Given the description of an element on the screen output the (x, y) to click on. 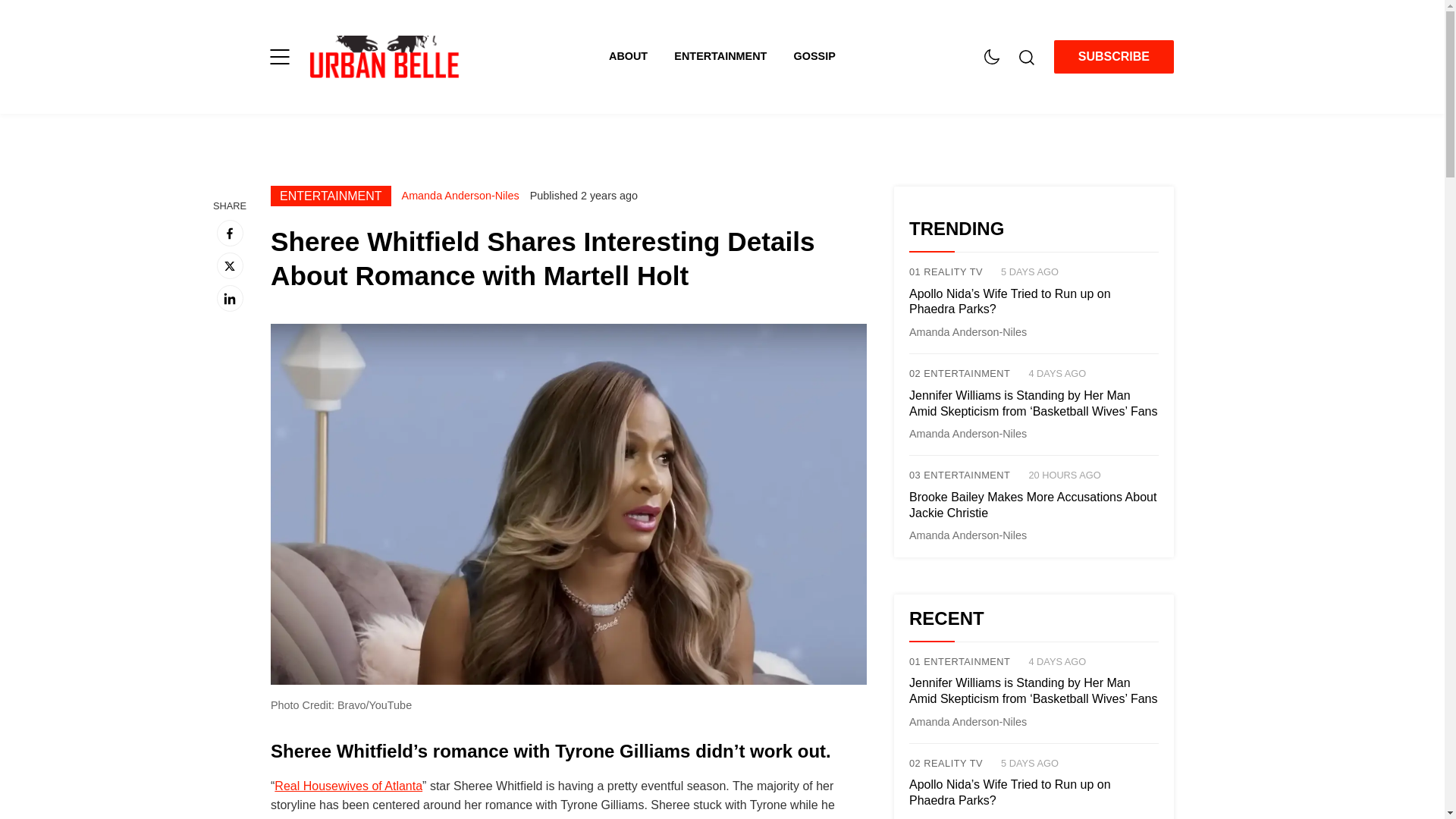
SUBSCRIBE (1113, 57)
ENTERTAINMENT (733, 56)
Posts by Amanda Anderson-Niles (967, 535)
GOSSIP (814, 56)
Real Housewives of Atlanta (348, 785)
ENTERTAINMENT (330, 195)
Posts by Amanda Anderson-Niles (967, 433)
Posts by Amanda Anderson-Niles (967, 331)
Amanda Anderson-Niles (460, 195)
Brooke Bailey Makes More Accusations About Jackie Christie (1033, 505)
